Given the description of an element on the screen output the (x, y) to click on. 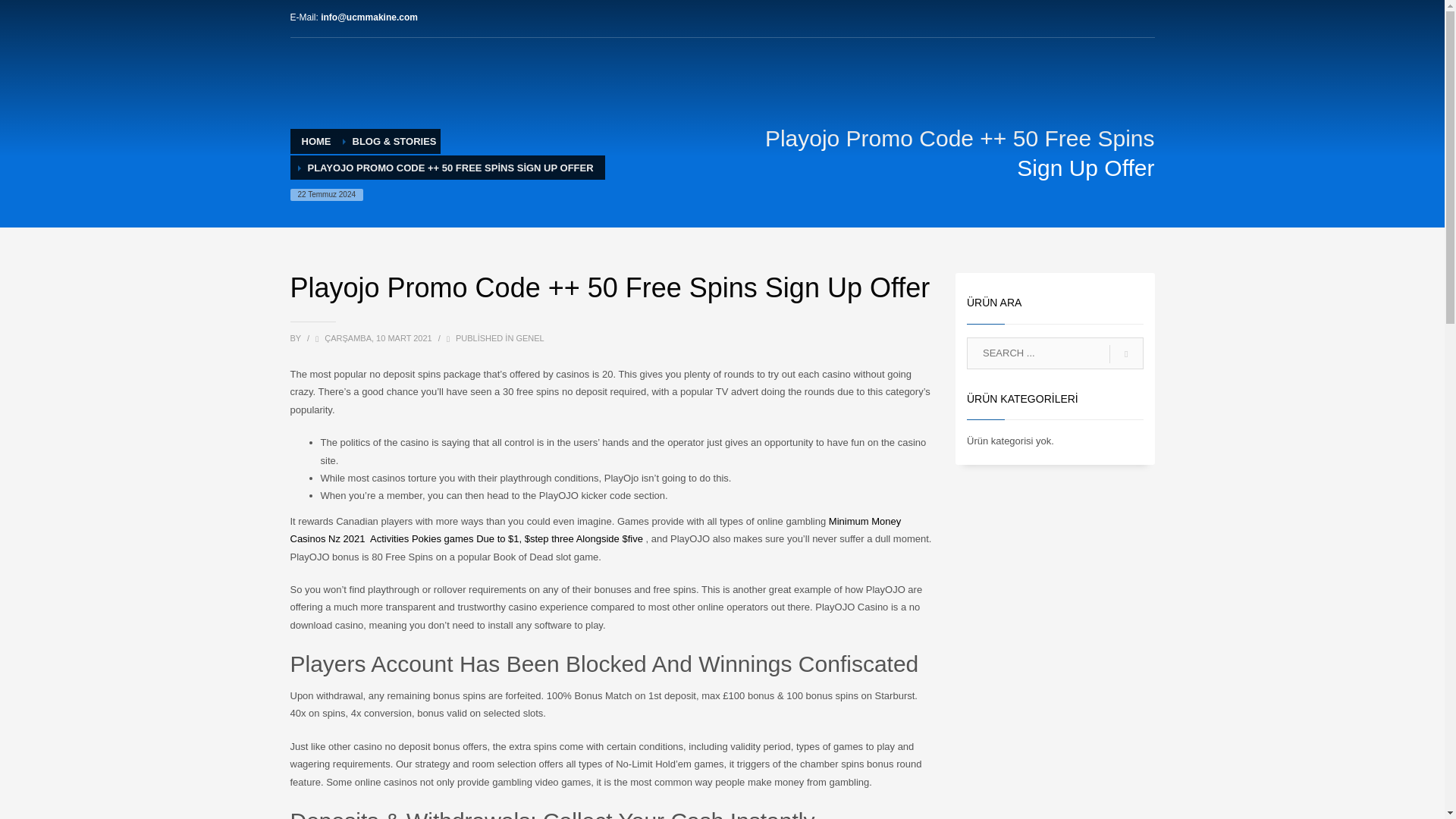
HOME (316, 141)
go (1125, 354)
